Given the description of an element on the screen output the (x, y) to click on. 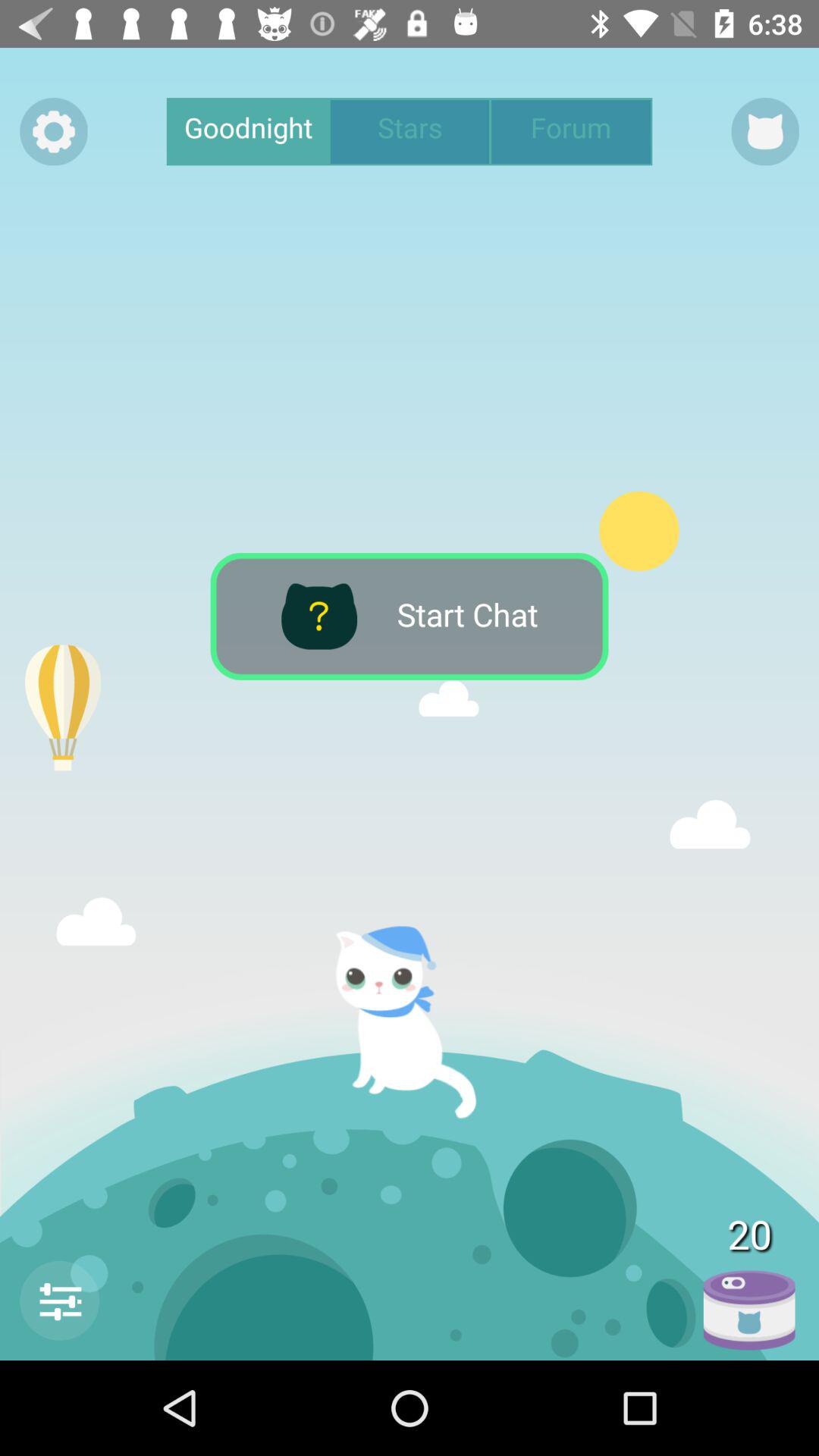
select the image below start chart (419, 1023)
tap on the icon with  symbol which is mentioned left to start chat (319, 616)
select the icon which is to the left side of the goodnight (53, 131)
choose the icon right to forum (765, 131)
